Given the description of an element on the screen output the (x, y) to click on. 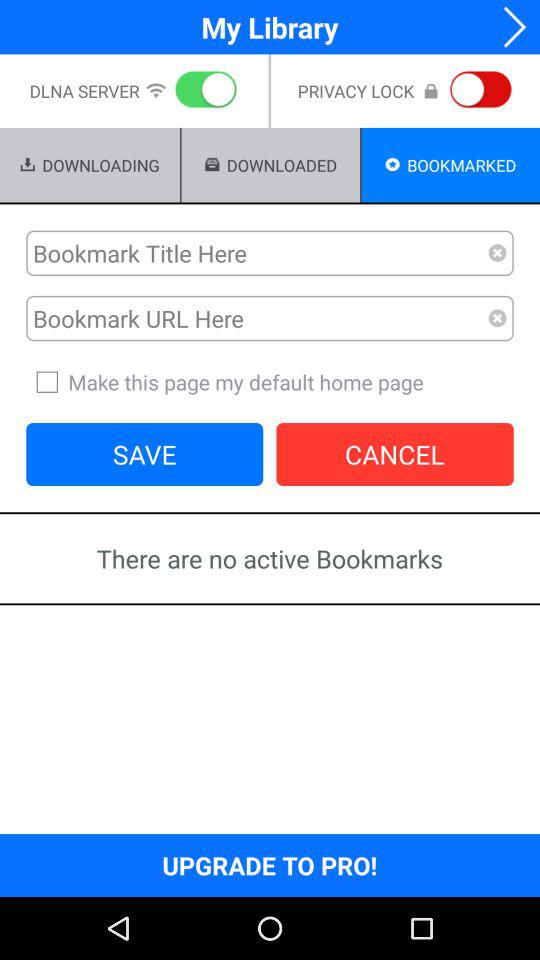
turn off the icon below the my library icon (202, 91)
